Given the description of an element on the screen output the (x, y) to click on. 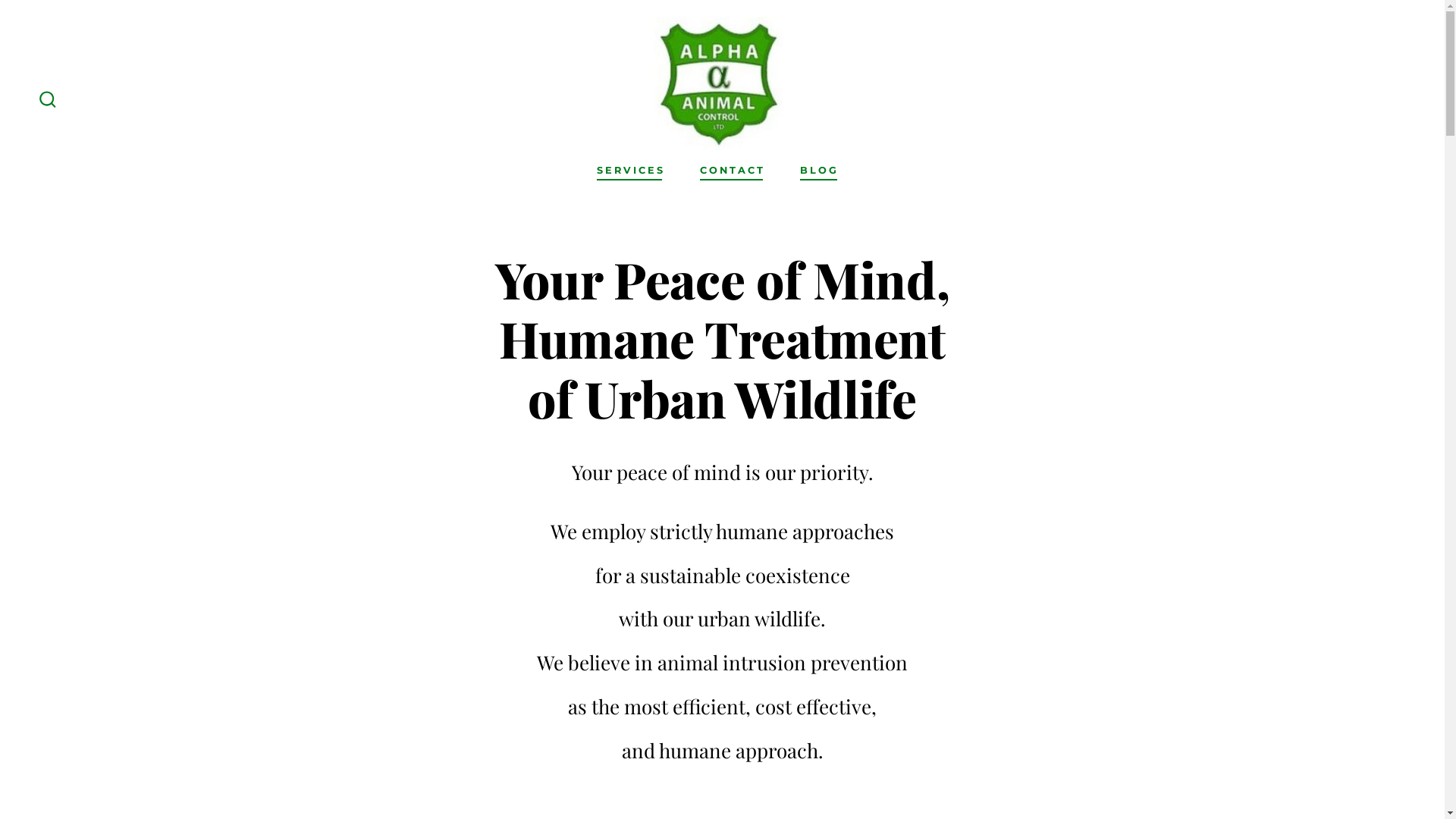
CONTACT Element type: text (732, 171)
SEARCH TOGGLE Element type: text (47, 100)
BLOG Element type: text (819, 171)
SERVICES Element type: text (630, 171)
